Given the description of an element on the screen output the (x, y) to click on. 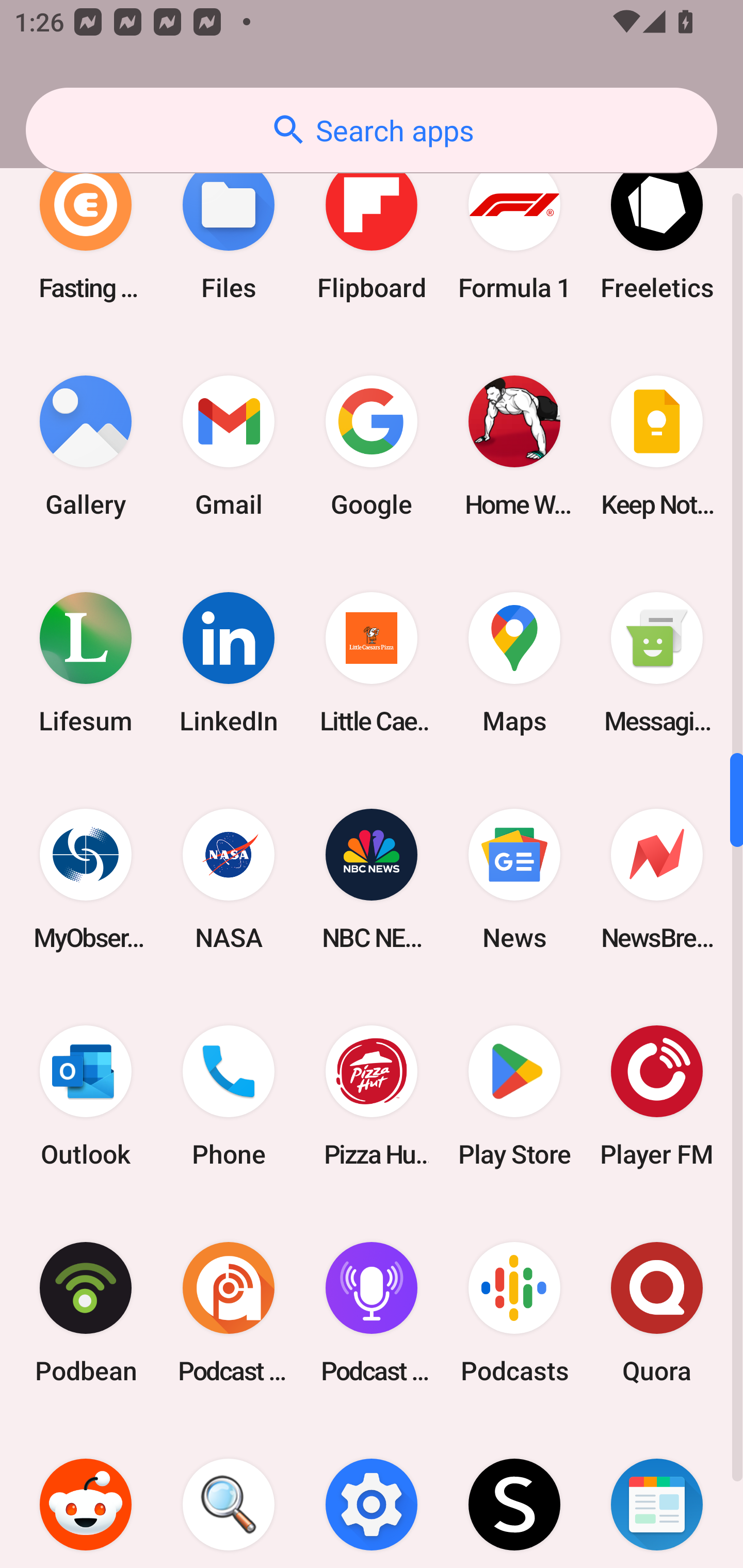
  Search apps (371, 130)
Fasting Coach (85, 228)
Files (228, 228)
Flipboard (371, 228)
Formula 1 (514, 228)
Freeletics (656, 228)
Gallery (85, 446)
Gmail (228, 446)
Google (371, 446)
Home Workout (514, 446)
Keep Notes (656, 446)
Lifesum (85, 663)
LinkedIn (228, 663)
Little Caesars Pizza (371, 663)
Maps (514, 663)
Messaging (656, 663)
MyObservatory (85, 879)
NASA (228, 879)
NBC NEWS (371, 879)
News (514, 879)
NewsBreak (656, 879)
Outlook (85, 1095)
Phone (228, 1095)
Pizza Hut HK & Macau (371, 1095)
Play Store (514, 1095)
Player FM (656, 1095)
Podbean (85, 1312)
Podcast Addict (228, 1312)
Podcast Player (371, 1312)
Podcasts (514, 1312)
Quora (656, 1312)
Reddit (85, 1494)
Search (228, 1494)
Settings (371, 1494)
SHEIN (514, 1494)
SmartNews (656, 1494)
